Given the description of an element on the screen output the (x, y) to click on. 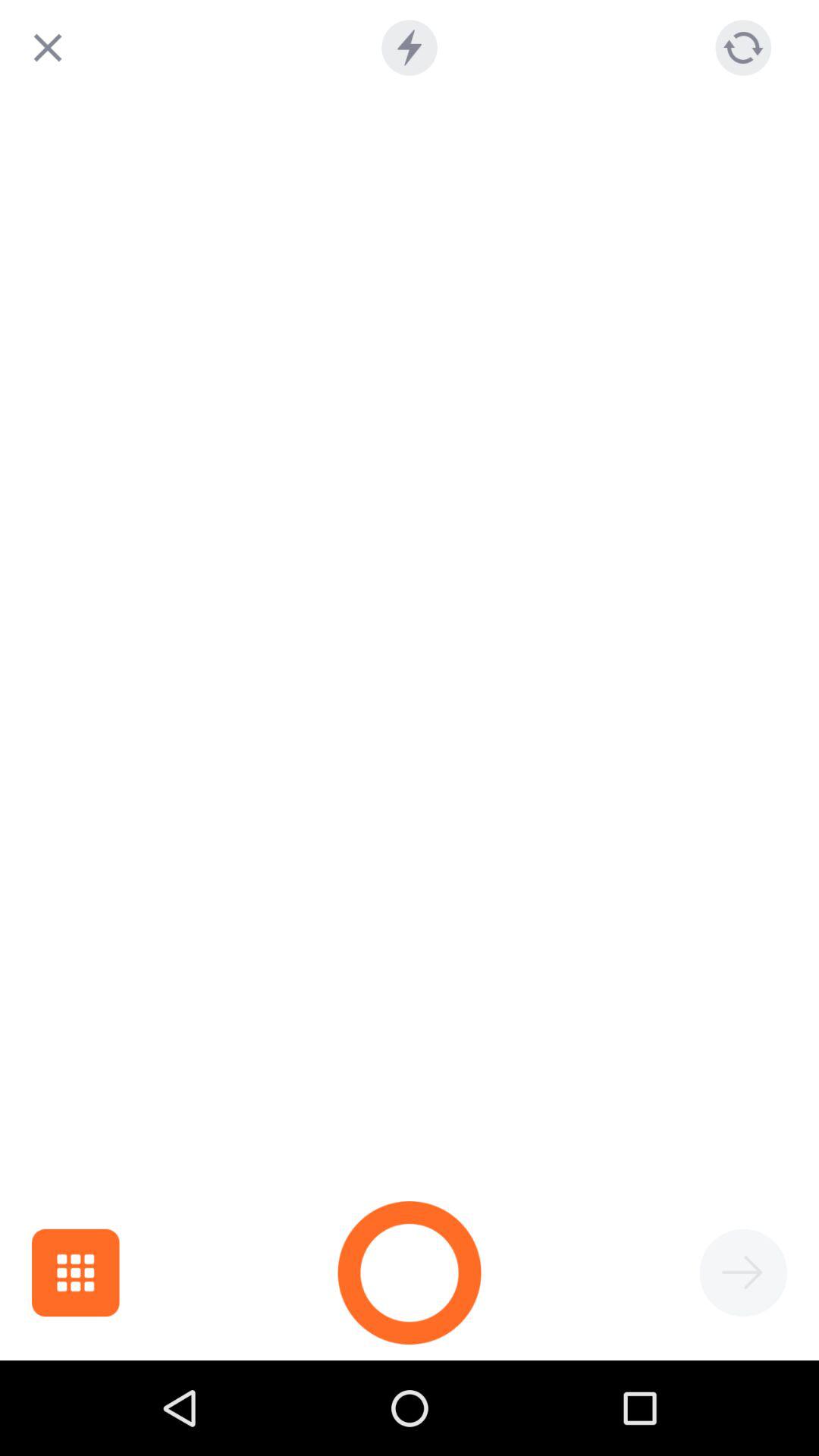
open options (75, 1272)
